Given the description of an element on the screen output the (x, y) to click on. 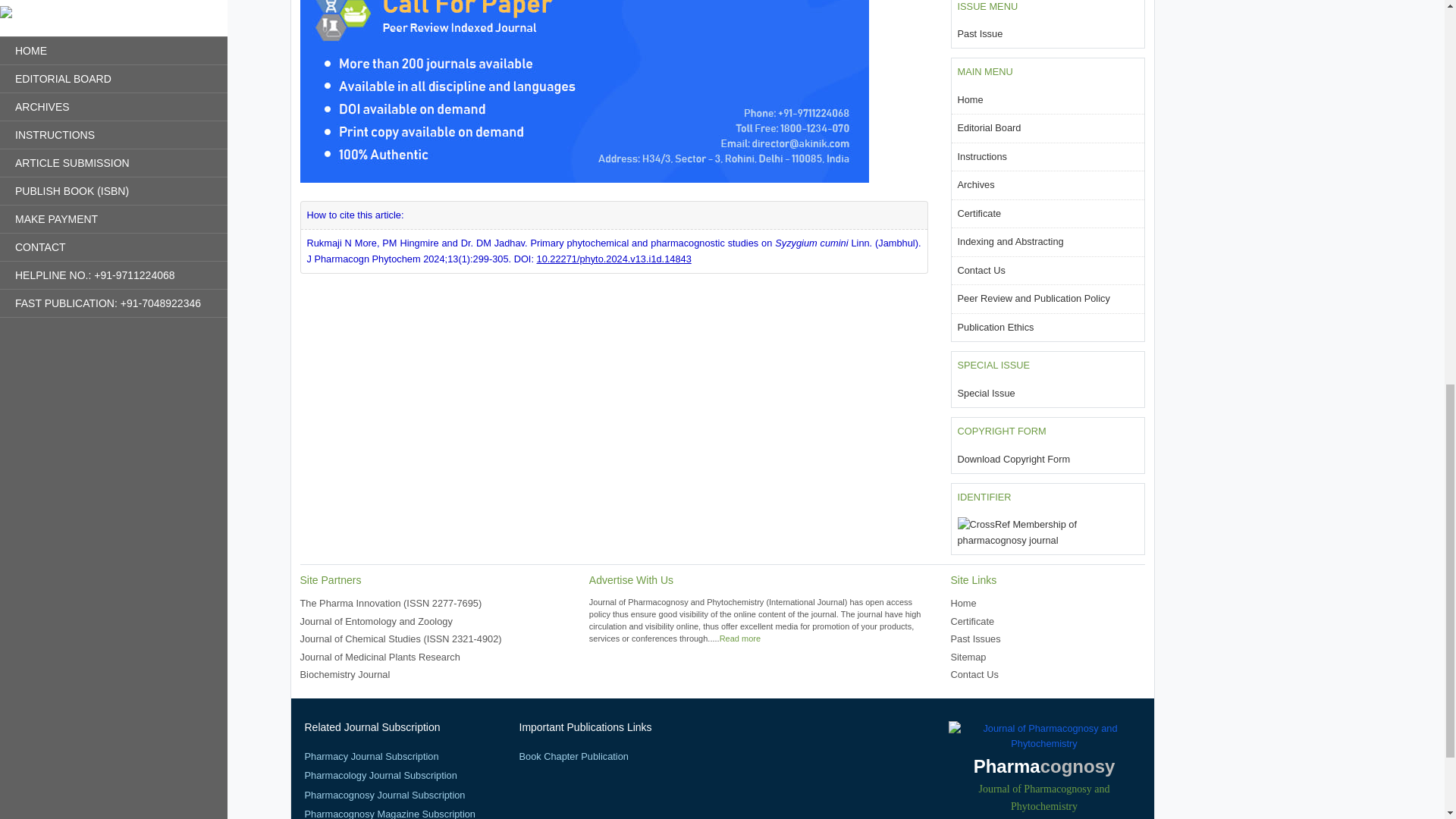
Editorial Board (988, 127)
Archives (975, 184)
Publication Ethics (994, 326)
Read more (739, 637)
Instructions (981, 156)
Home (969, 99)
Past Issue (979, 33)
Download Copyright Form (1013, 459)
Biochemistry Journal (344, 674)
CrossRef Membership of pharmacognosy journal (1046, 531)
Journal of Entomology and Zoology (375, 621)
Contact Us (980, 270)
Certificate (978, 213)
Special Issue (985, 392)
Indexing and Abstracting (1009, 241)
